Given the description of an element on the screen output the (x, y) to click on. 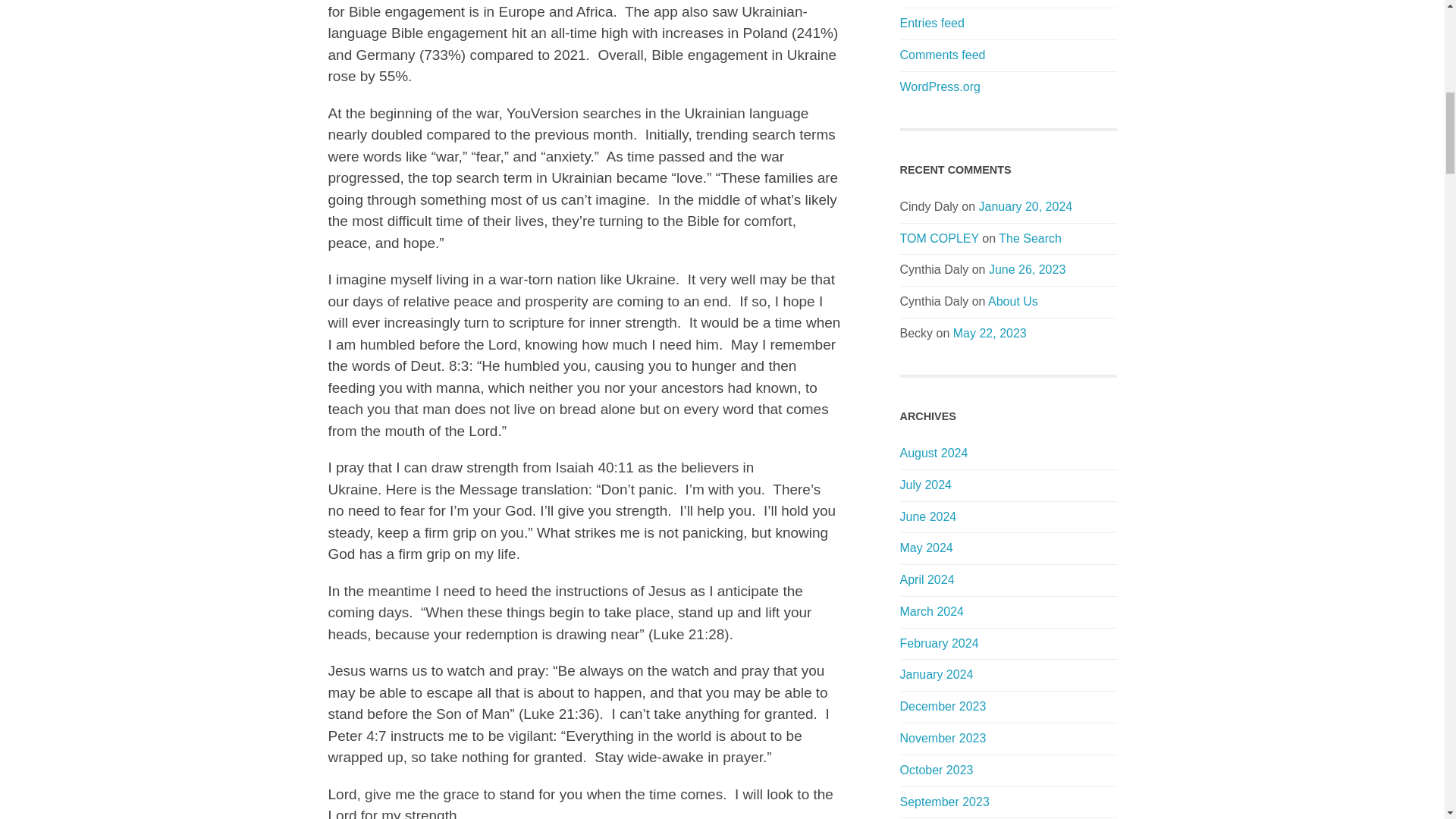
Comments feed (942, 54)
January 20, 2024 (1025, 205)
Entries feed (931, 22)
WordPress.org (939, 86)
TOM COPLEY (938, 237)
